Given the description of an element on the screen output the (x, y) to click on. 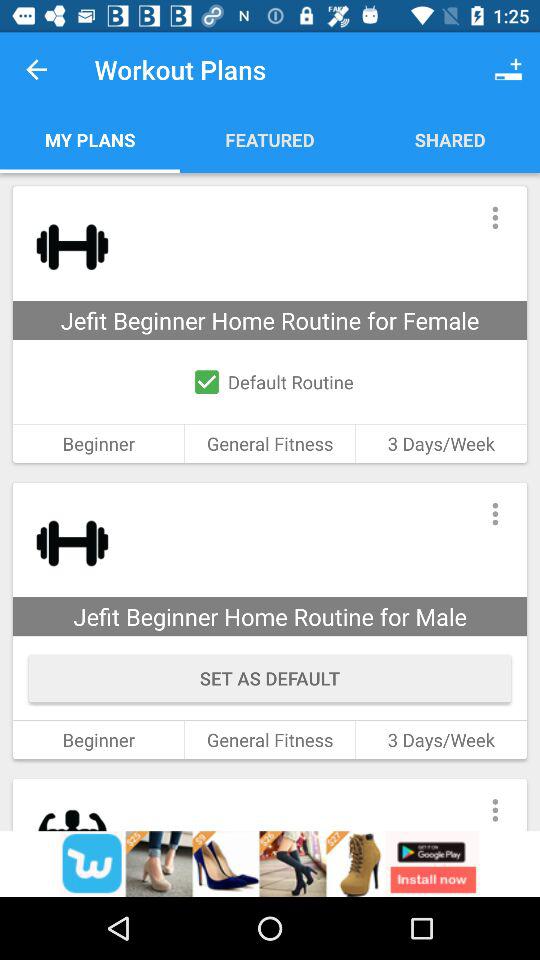
view menu (494, 804)
